Given the description of an element on the screen output the (x, y) to click on. 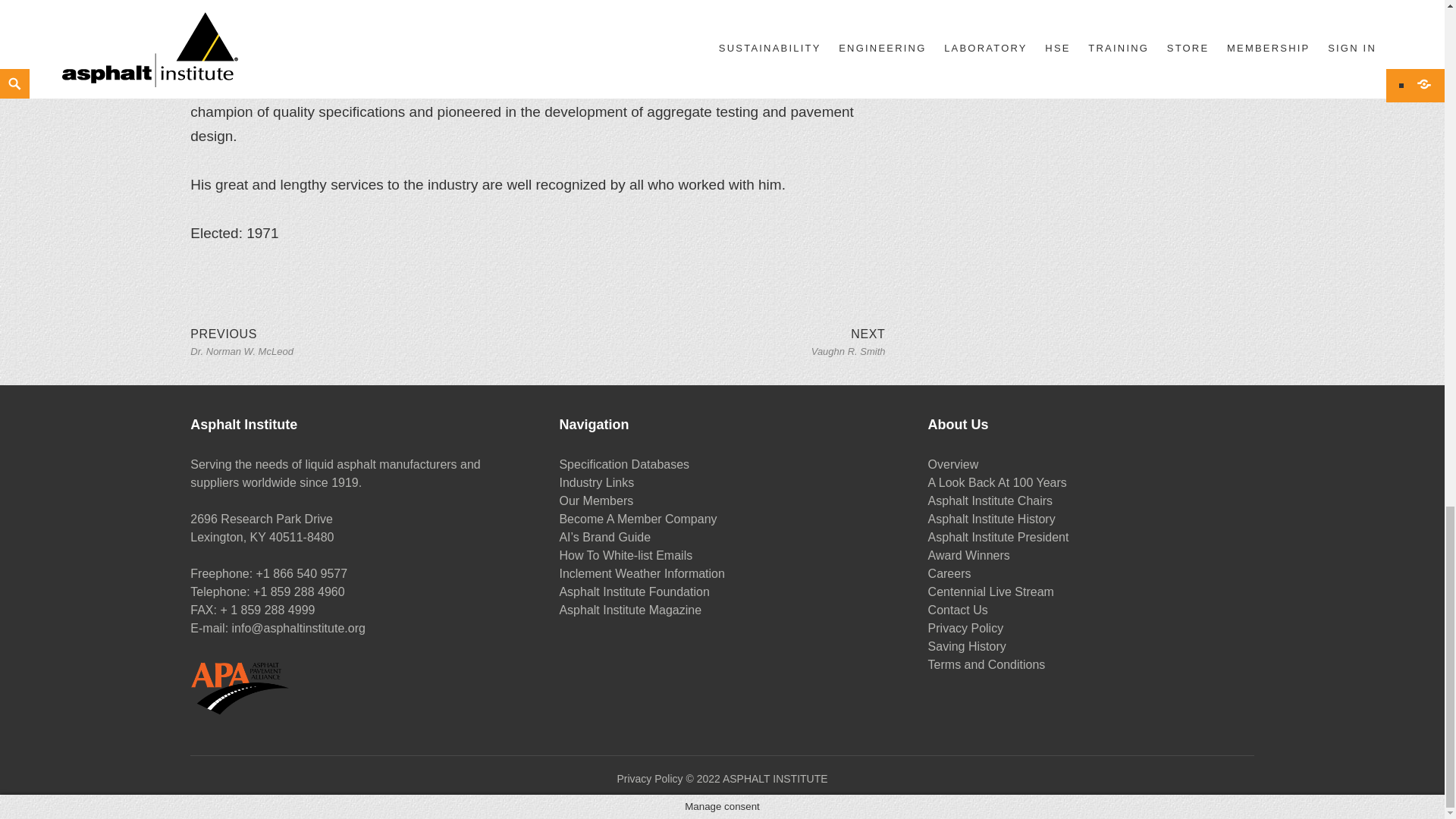
Our Members (596, 500)
Industry Links (596, 482)
Asphalt Institute (762, 779)
859 288 4960 (847, 340)
How To White-list Emails (307, 591)
Become A Member Company (626, 555)
866 540 9577 (637, 519)
